Given the description of an element on the screen output the (x, y) to click on. 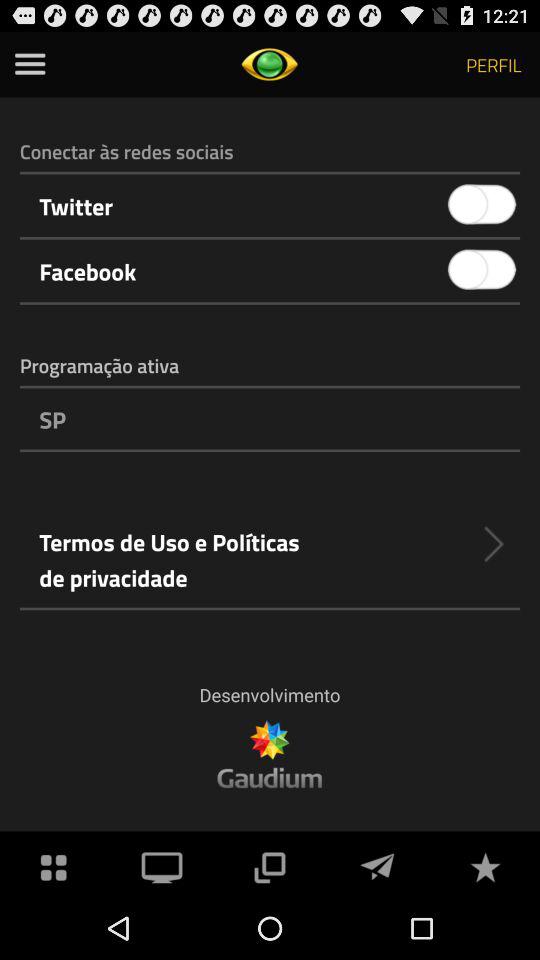
press app next to the facebook item (482, 270)
